Given the description of an element on the screen output the (x, y) to click on. 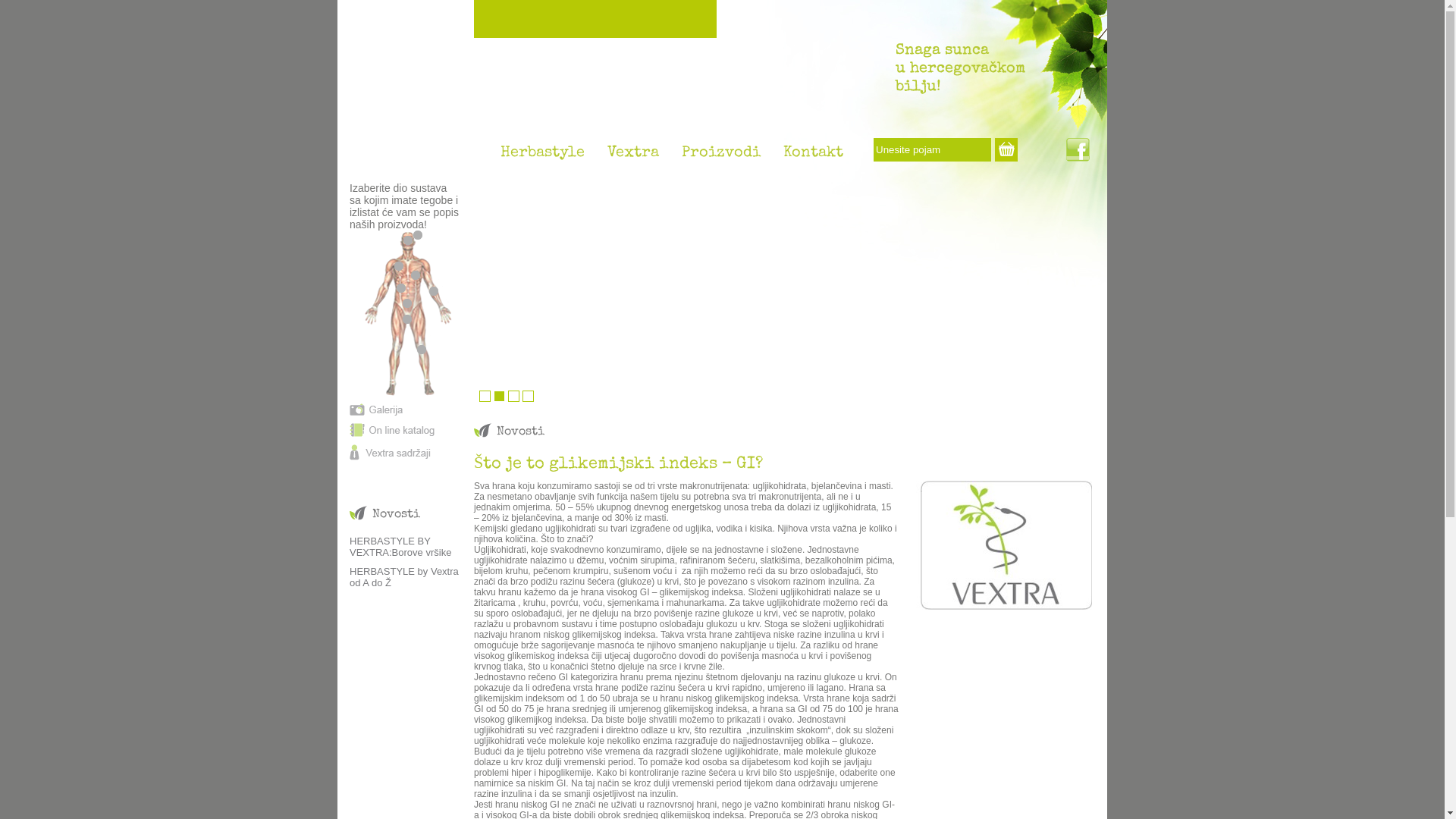
Proizvodi Element type: text (720, 156)
Vextra Element type: text (633, 156)
Unesite pojam Element type: text (932, 149)
Herbastyle Element type: text (542, 156)
Kontakt Element type: text (812, 156)
